Given the description of an element on the screen output the (x, y) to click on. 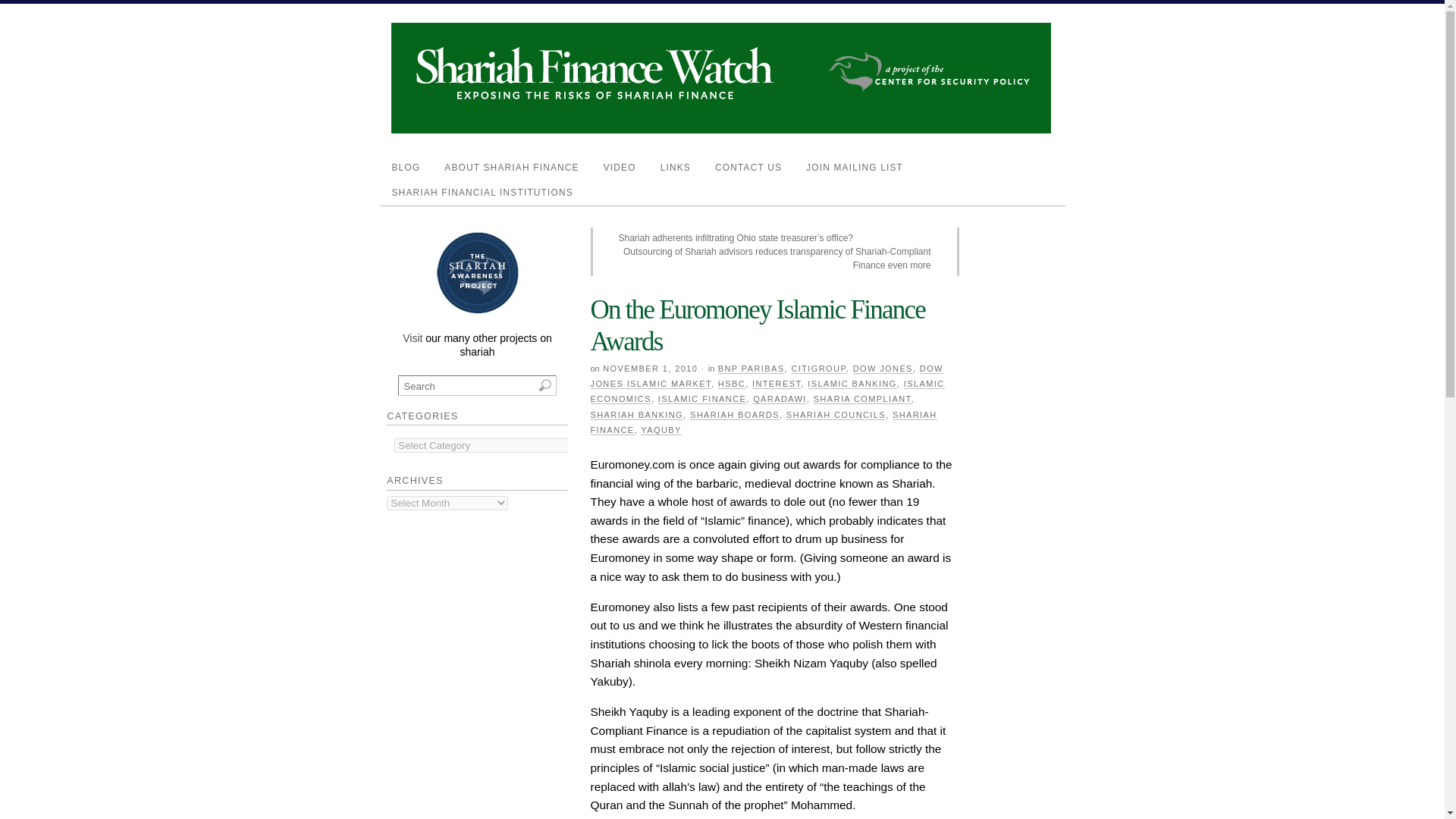
INTEREST (776, 384)
ISLAMIC FINANCE (701, 398)
SHARIAH BOARDS (734, 415)
ISLAMIC BANKING (852, 384)
Search (476, 385)
Shariah Finance Watch (721, 129)
SHARIAH COUNCILS (835, 415)
BLOG (405, 167)
JOIN MAILING LIST (854, 167)
QARADAWI (779, 398)
Visit (412, 337)
ABOUT SHARIAH FINANCE (511, 167)
Search (476, 385)
SHARIA COMPLIANT (862, 398)
